Given the description of an element on the screen output the (x, y) to click on. 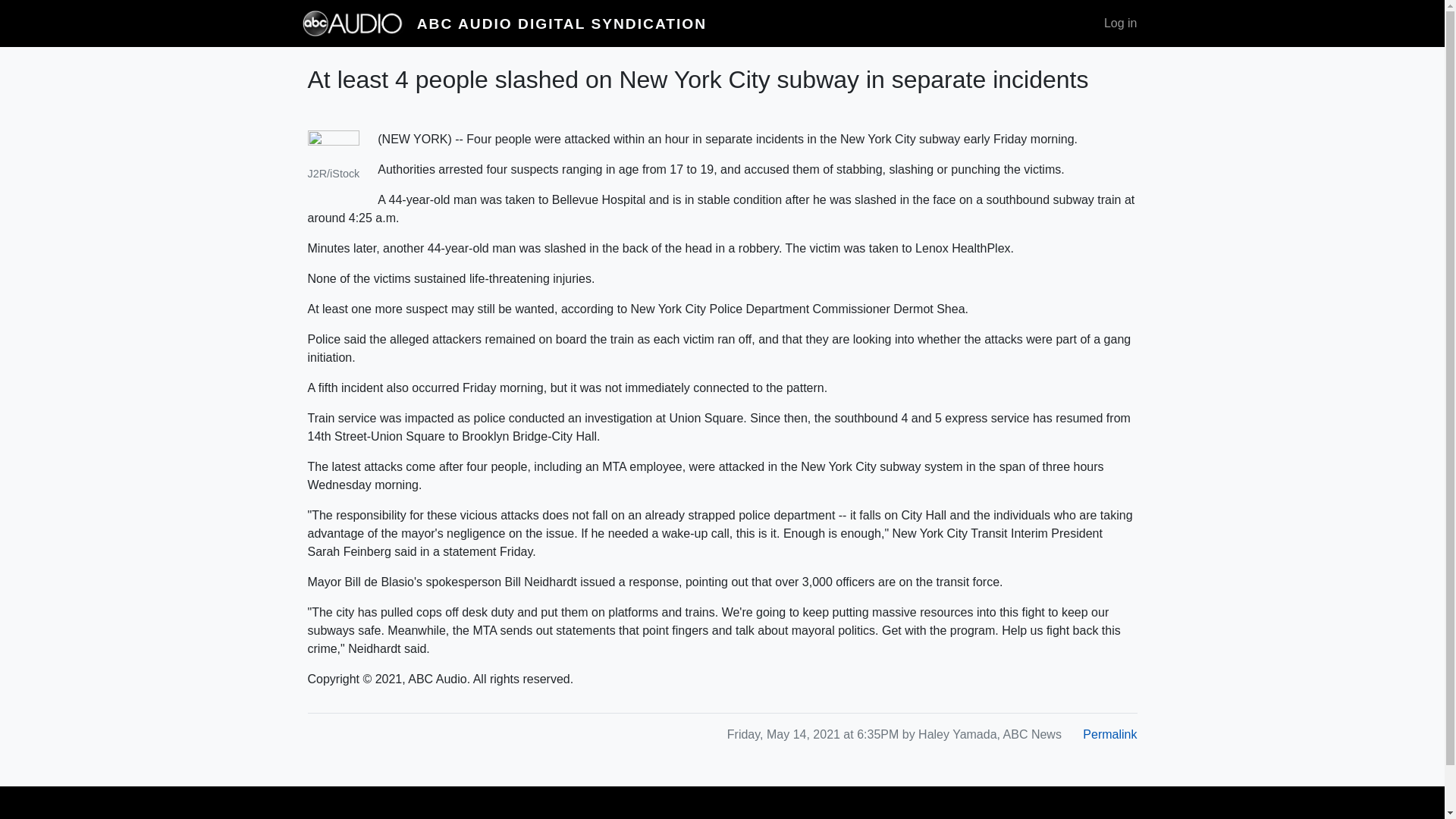
Permalink (1110, 734)
Home (358, 22)
Home (561, 23)
ABC AUDIO DIGITAL SYNDICATION (561, 23)
Log in (1119, 23)
